Given the description of an element on the screen output the (x, y) to click on. 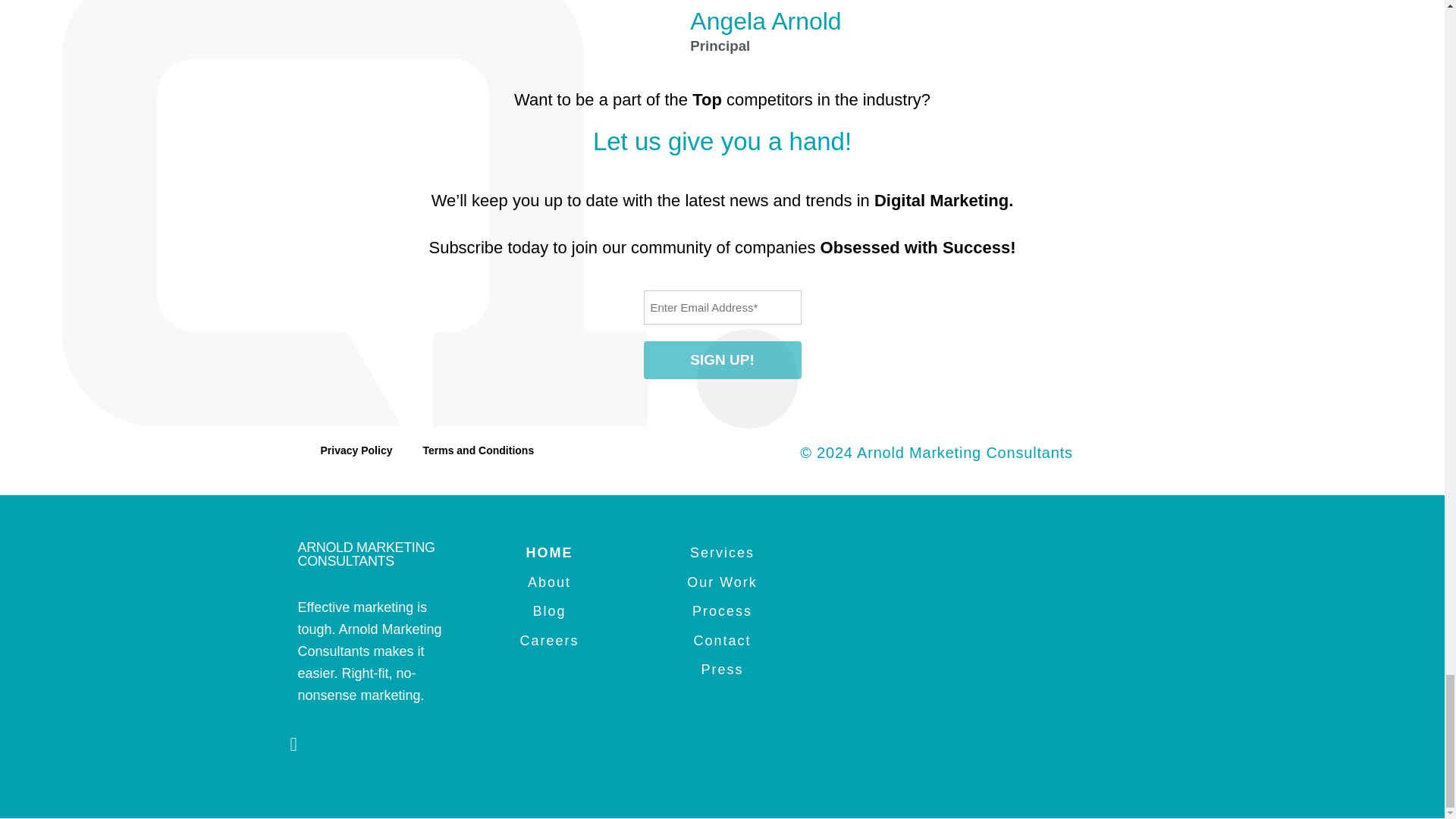
Sign Up! (721, 360)
